Given the description of an element on the screen output the (x, y) to click on. 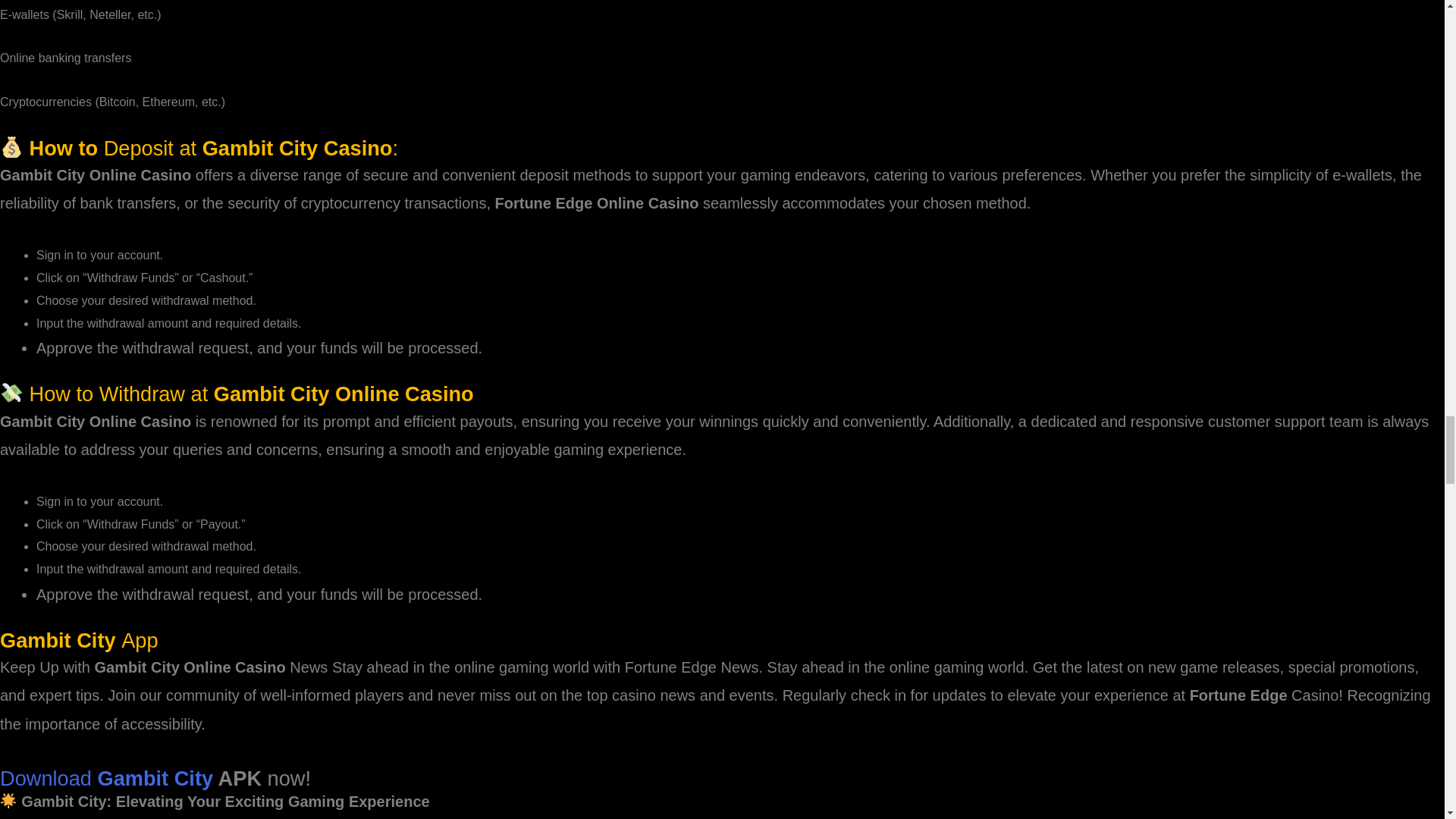
How to Deposit at Gambit City Casino: (198, 147)
Gambit City (156, 778)
Gambit City (60, 639)
Download (48, 778)
How to Withdraw at Gambit City Online Casino (237, 393)
